Given the description of an element on the screen output the (x, y) to click on. 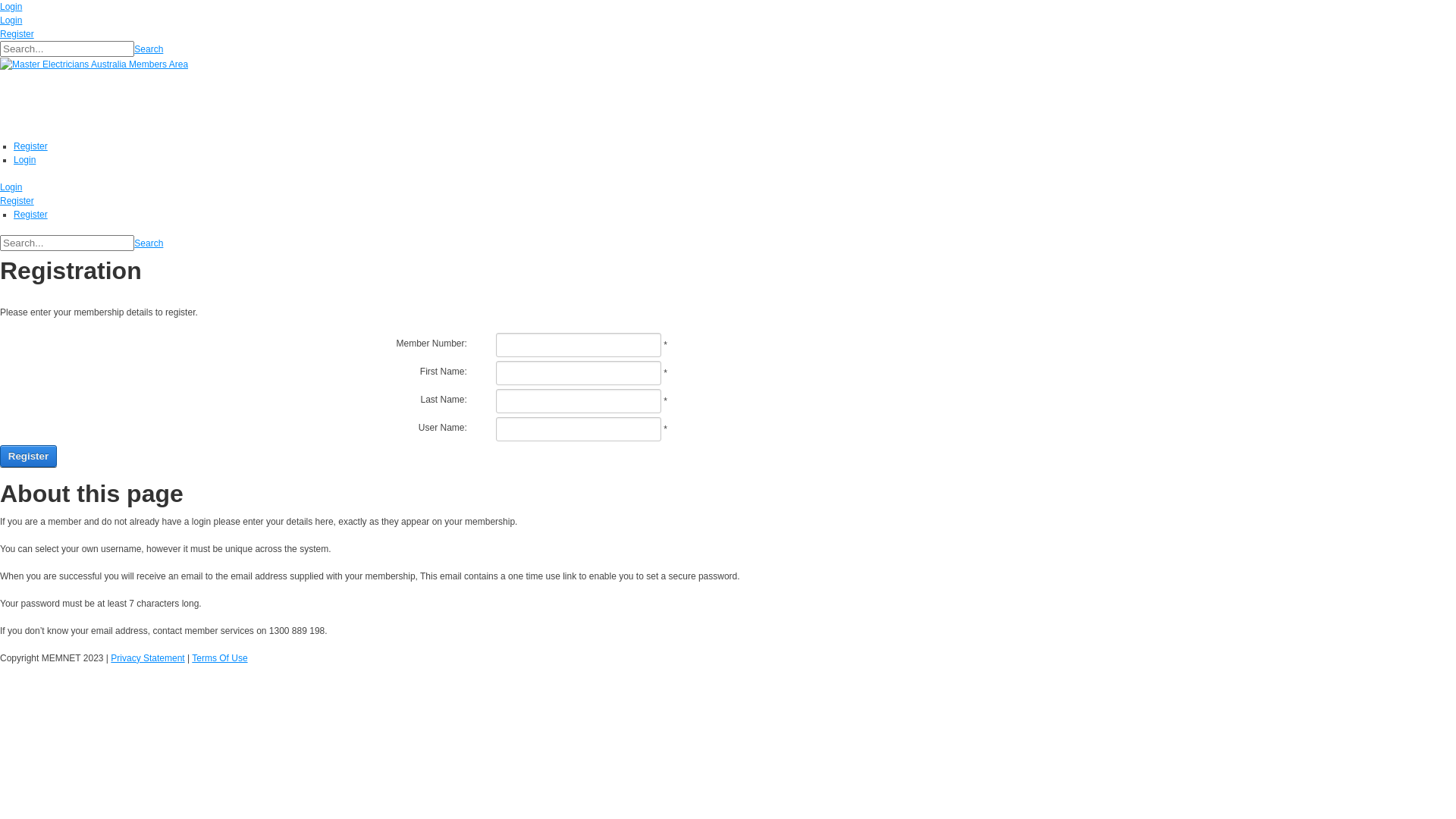
Register Element type: text (30, 146)
Register Element type: text (17, 33)
Search Element type: text (148, 243)
Terms Of Use Element type: text (219, 657)
Login Element type: text (10, 20)
Privacy Statement Element type: text (147, 657)
Login Element type: text (10, 187)
Master Electricians Australia Members Area Element type: hover (94, 63)
Login Element type: text (10, 6)
Register Element type: text (28, 456)
Search Element type: text (148, 48)
Login Element type: text (24, 159)
Register Element type: text (17, 200)
Register Element type: text (30, 214)
